Given the description of an element on the screen output the (x, y) to click on. 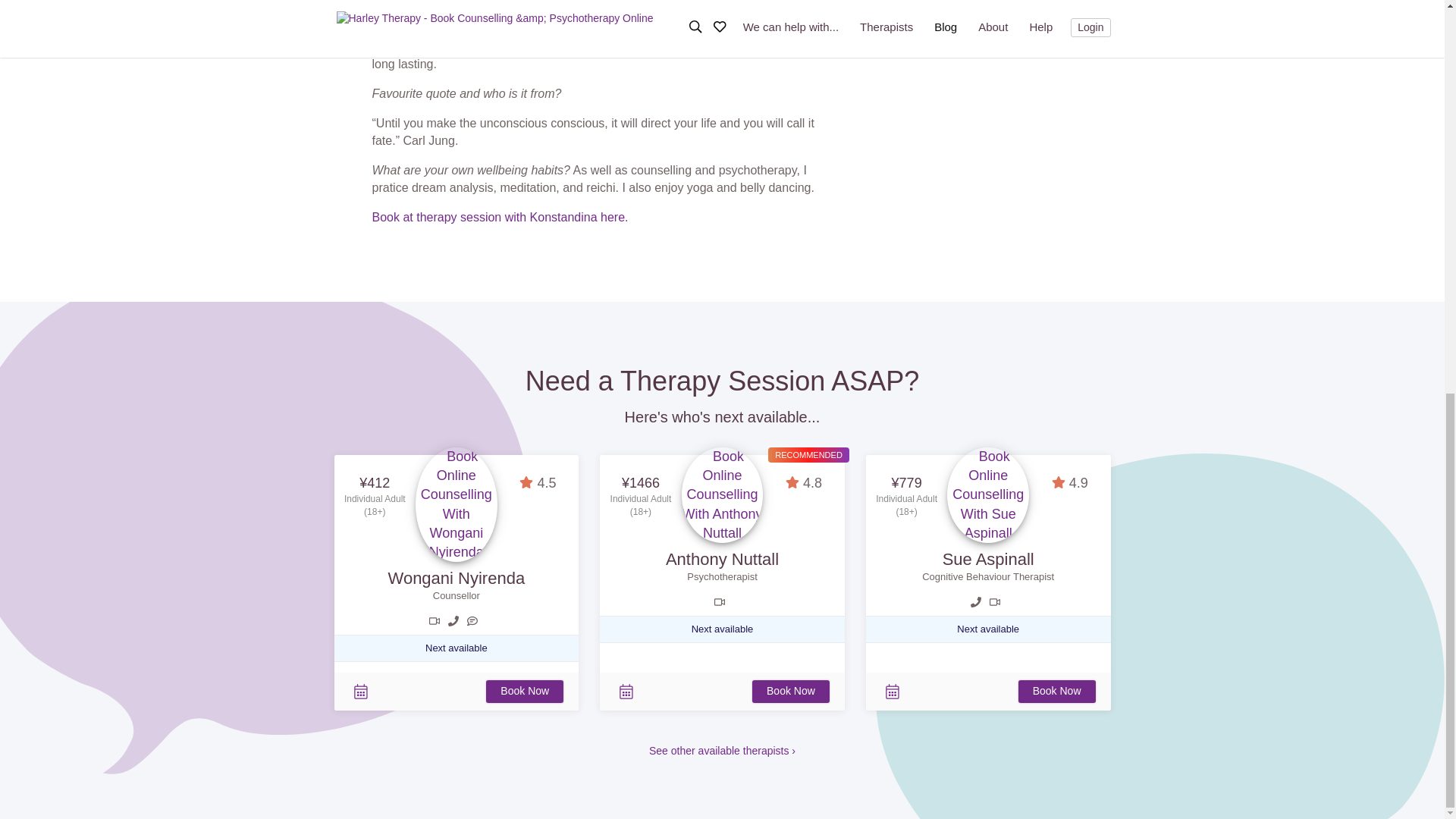
Next available (987, 628)
Sue Aspinall (987, 558)
Next available (456, 647)
Book Now (1056, 691)
Book at therapy session with Konstandina here. (499, 216)
Next available (722, 628)
Anthony Nuttall (721, 558)
Wongani Nyirenda (456, 578)
Book Now (790, 691)
Book Now (524, 691)
